Given the description of an element on the screen output the (x, y) to click on. 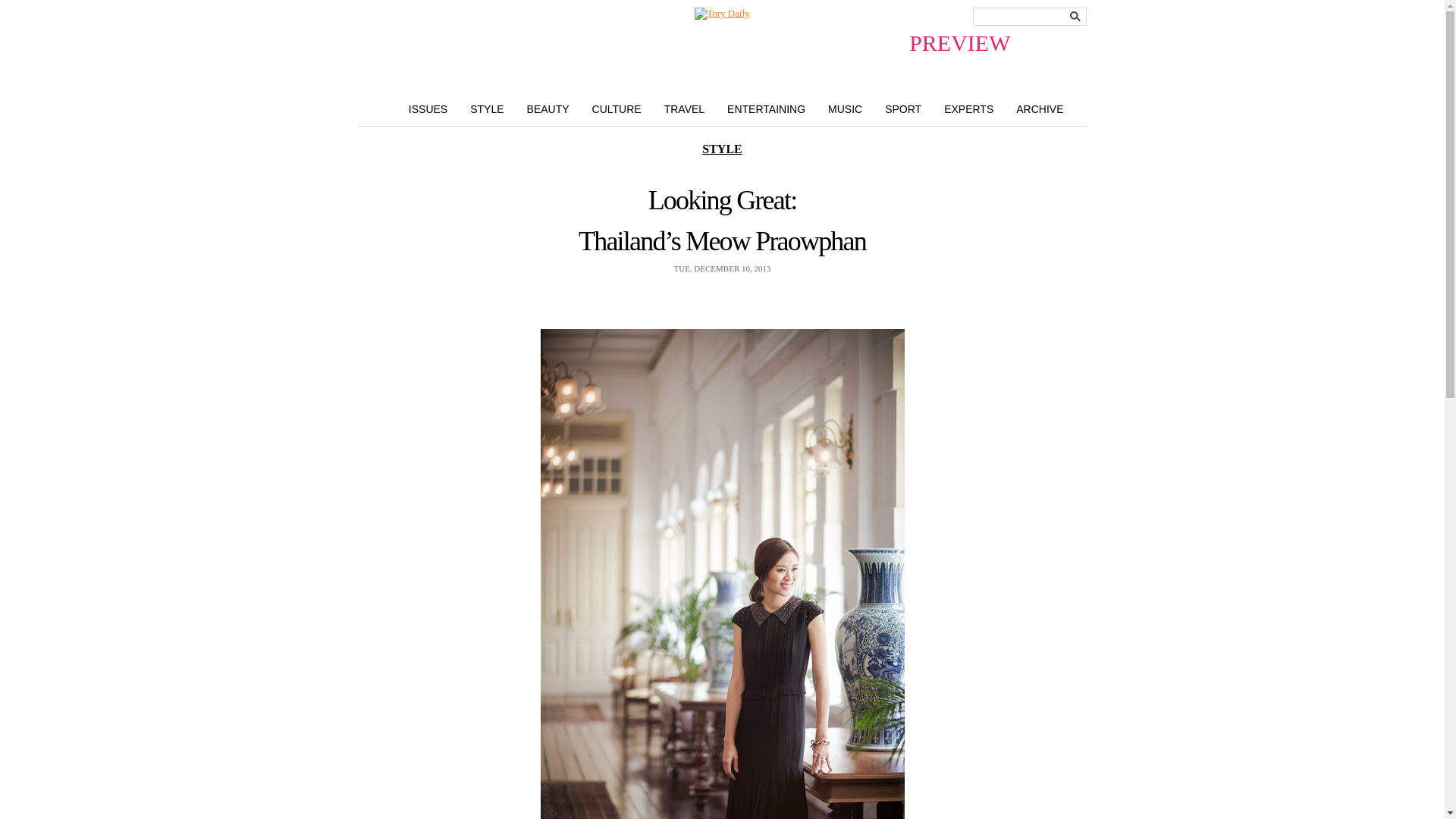
Culture (616, 108)
Archive (1039, 108)
PREVIEW (722, 13)
TRAVEL (684, 108)
ISSUES (427, 108)
Search (1075, 16)
Entertaining (766, 108)
ENTERTAINING (766, 108)
STYLE (486, 108)
Style (486, 108)
Sport (903, 108)
Style (427, 108)
Music (844, 108)
CULTURE (616, 108)
Travel (684, 108)
